Given the description of an element on the screen output the (x, y) to click on. 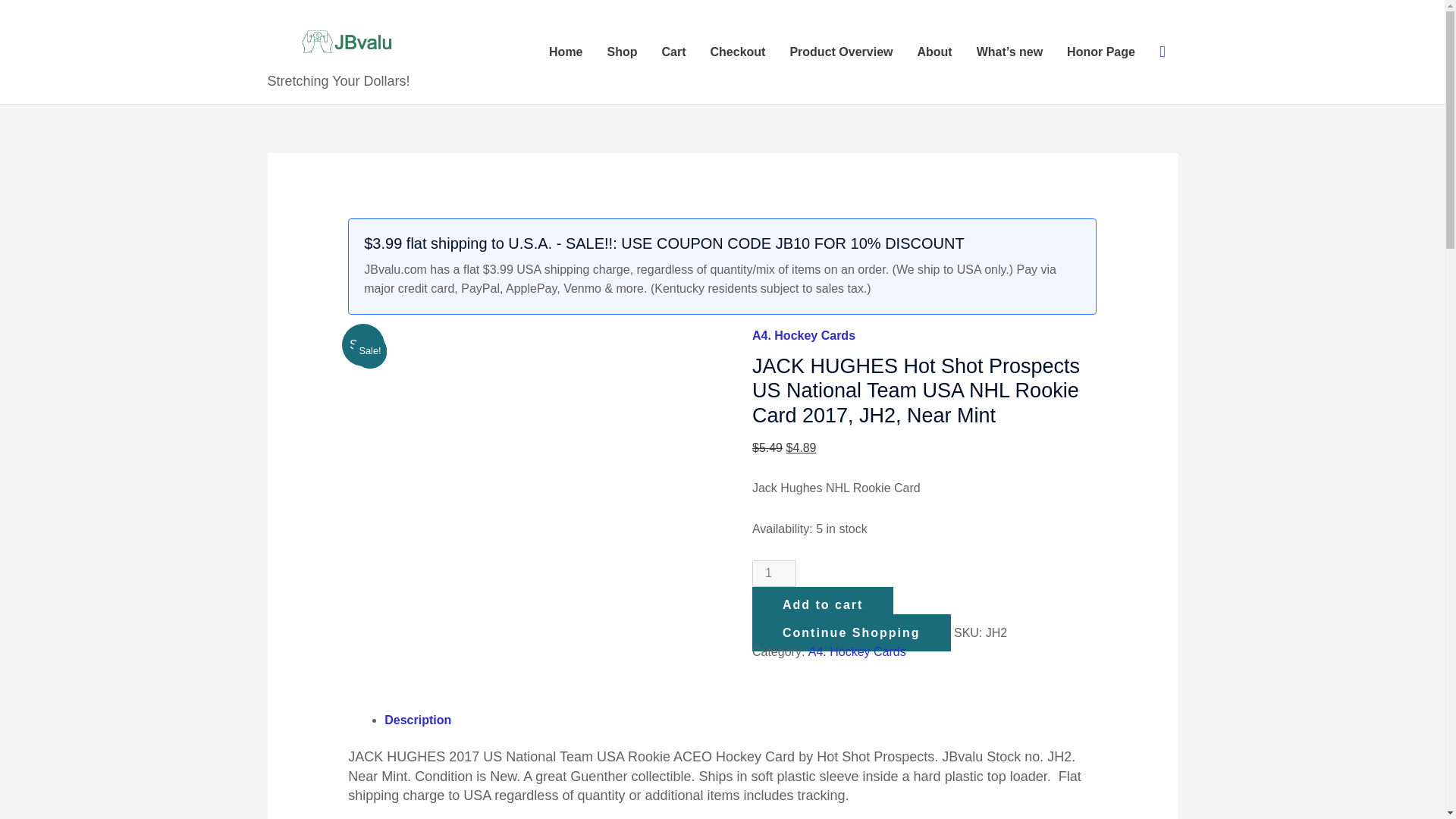
Continue Shopping (851, 632)
About (933, 51)
A4. Hockey Cards (856, 651)
Honor Page (1100, 51)
Shop (621, 51)
Cart (673, 51)
A4. Hockey Cards (804, 335)
1 (774, 572)
Add to cart (822, 605)
Description (417, 719)
